Given the description of an element on the screen output the (x, y) to click on. 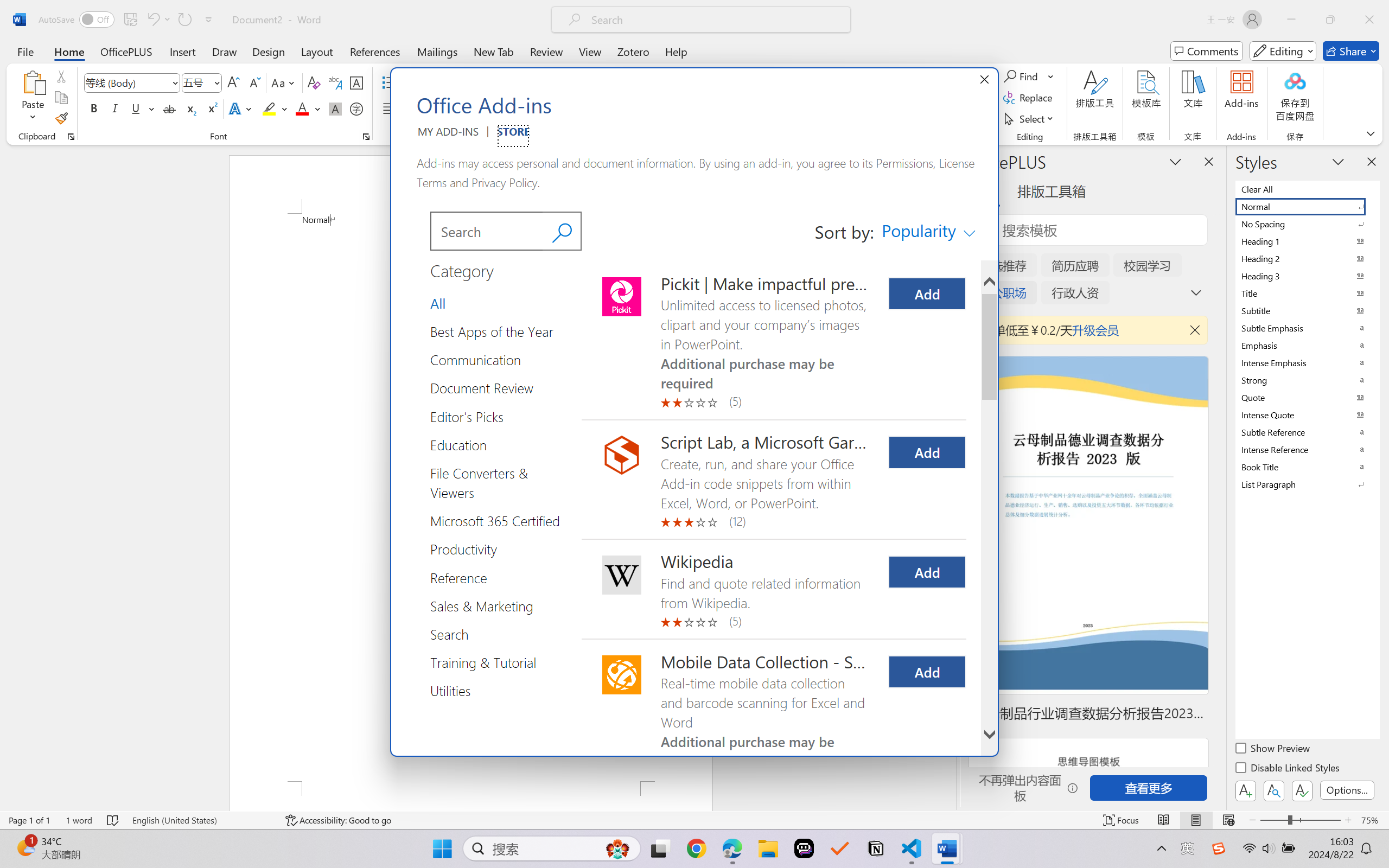
Spelling and Grammar Check No Errors (113, 819)
Strong (1306, 379)
Subtle Emphasis (1306, 327)
Font Color (308, 108)
Grow Font (233, 82)
Word Count 1 word (78, 819)
Save (130, 19)
Task Pane Options (1175, 161)
Help (675, 51)
Paste (33, 81)
